Given the description of an element on the screen output the (x, y) to click on. 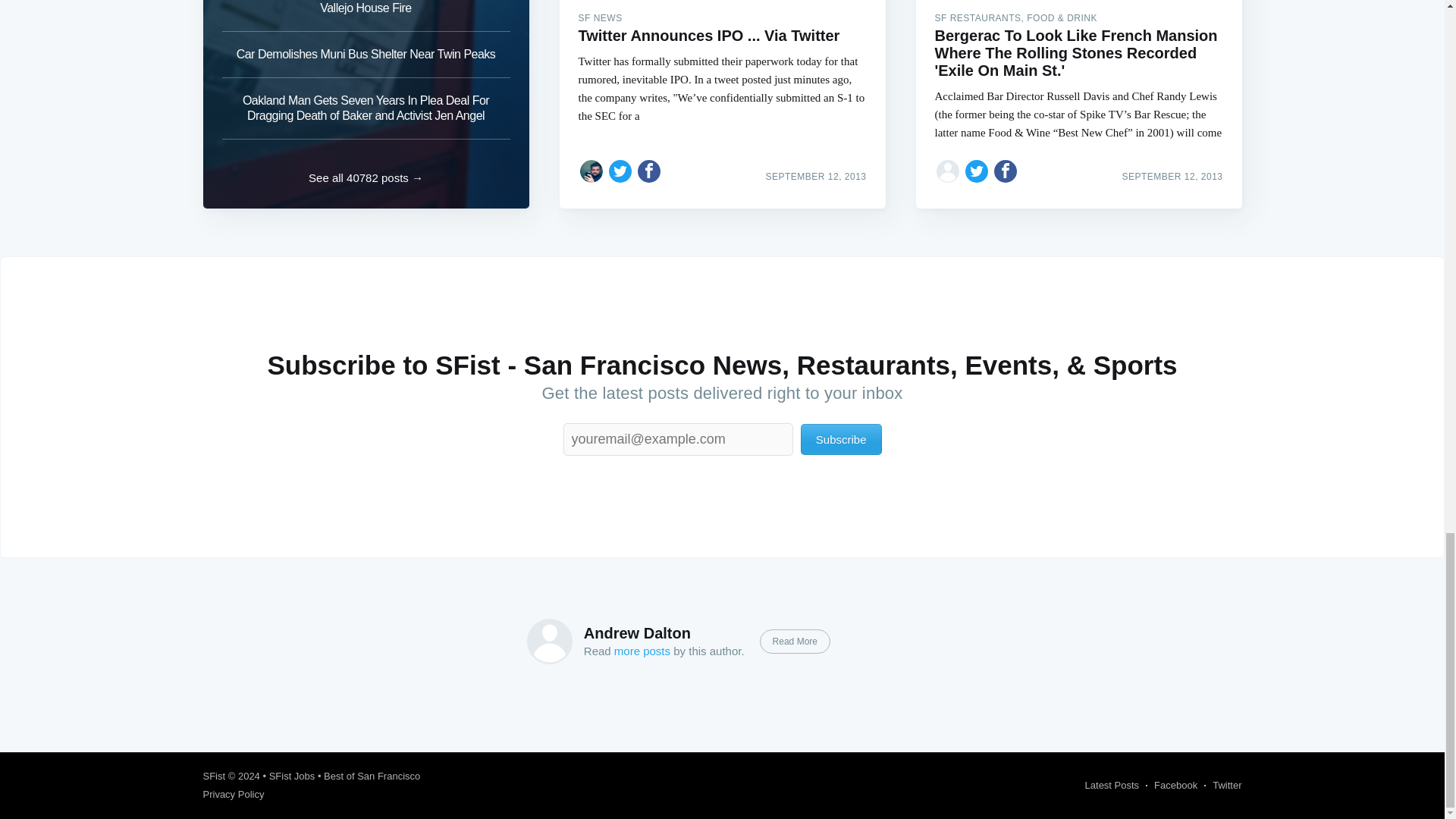
Share on Facebook (1004, 171)
Share on Twitter (620, 171)
Share on Twitter (976, 171)
Car Demolishes Muni Bus Shelter Near Twin Peaks (365, 54)
Share on Facebook (649, 171)
